Given the description of an element on the screen output the (x, y) to click on. 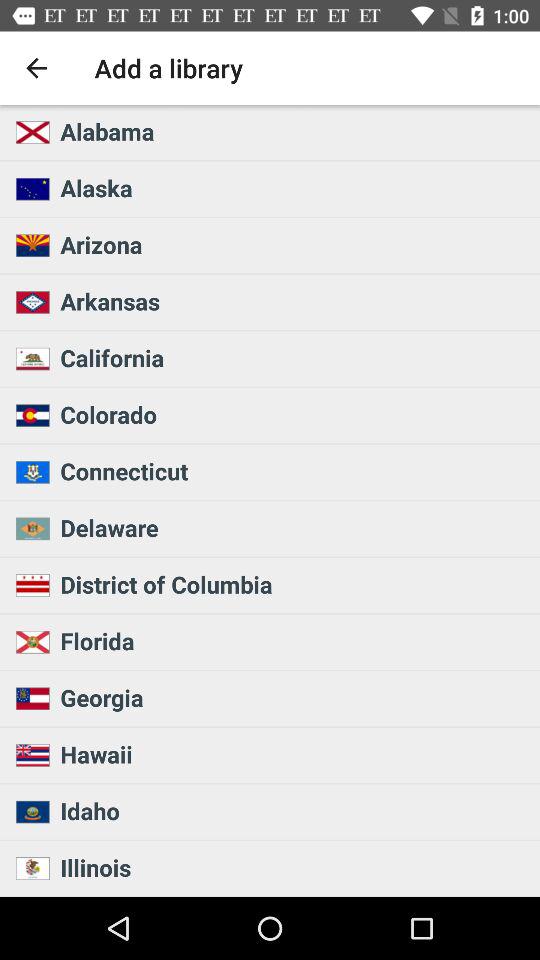
turn on the icon below alabama (294, 188)
